Given the description of an element on the screen output the (x, y) to click on. 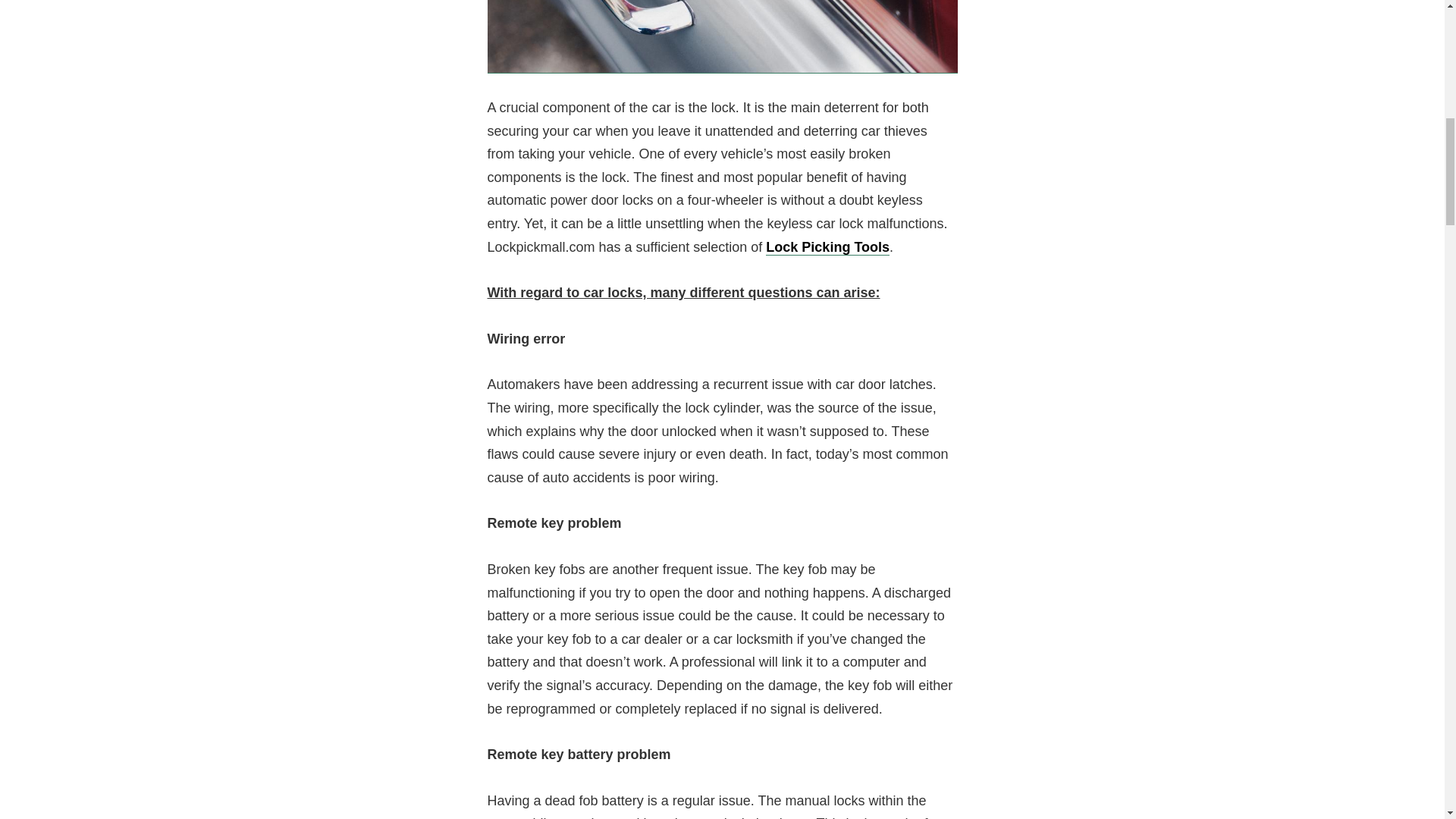
Lock Picking Tools (827, 247)
